Given the description of an element on the screen output the (x, y) to click on. 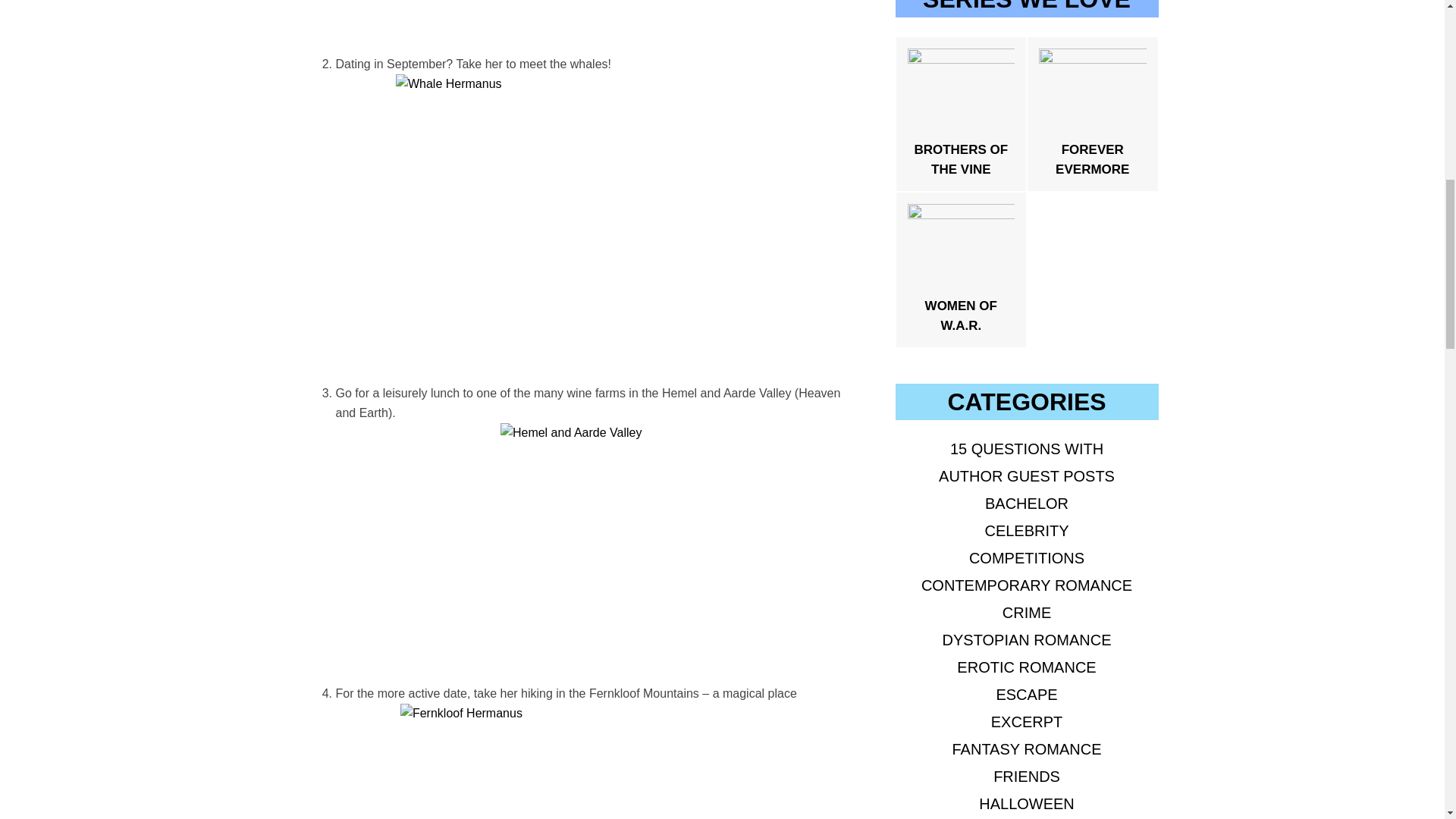
Brothers of the Vine (960, 112)
Forever Evermore (1092, 112)
Women of W.A.R. (960, 267)
